Given the description of an element on the screen output the (x, y) to click on. 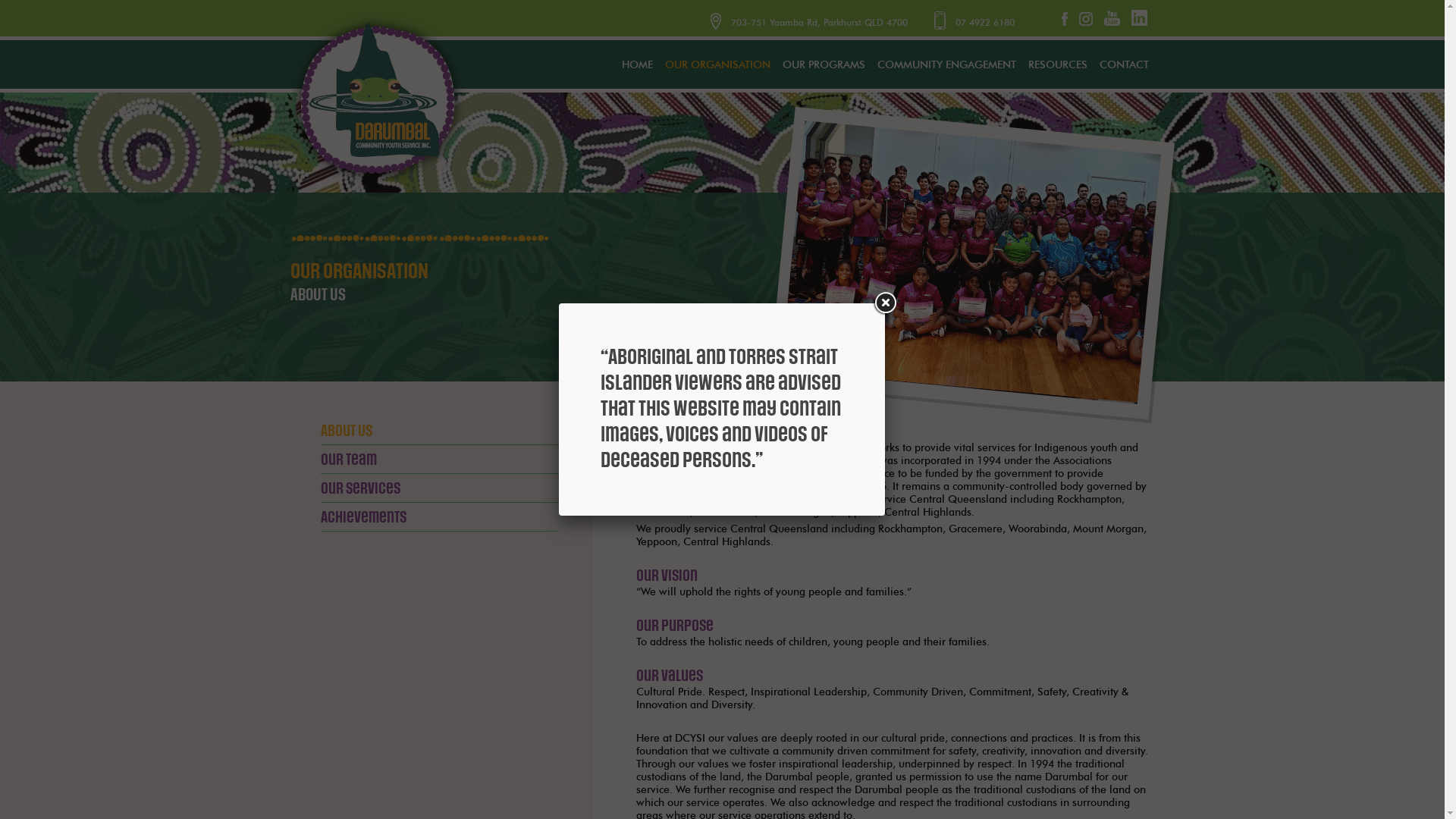
COMMUNITY ENGAGEMENT Element type: text (945, 64)
About Us Element type: text (345, 430)
Close Element type: hover (884, 302)
OUR PROGRAMS Element type: text (823, 64)
RESOURCES Element type: text (1057, 64)
HOME Element type: text (636, 64)
CONTACT Element type: text (1123, 64)
703-751 Yaamba Rd, Parkhurst QLD 4700 Element type: text (819, 22)
Achievements Element type: text (362, 517)
Our Services Element type: text (359, 488)
OUR ORGANISATION Element type: text (716, 64)
Our Team Element type: text (348, 459)
07 4922 6180 Element type: text (974, 22)
